Given the description of an element on the screen output the (x, y) to click on. 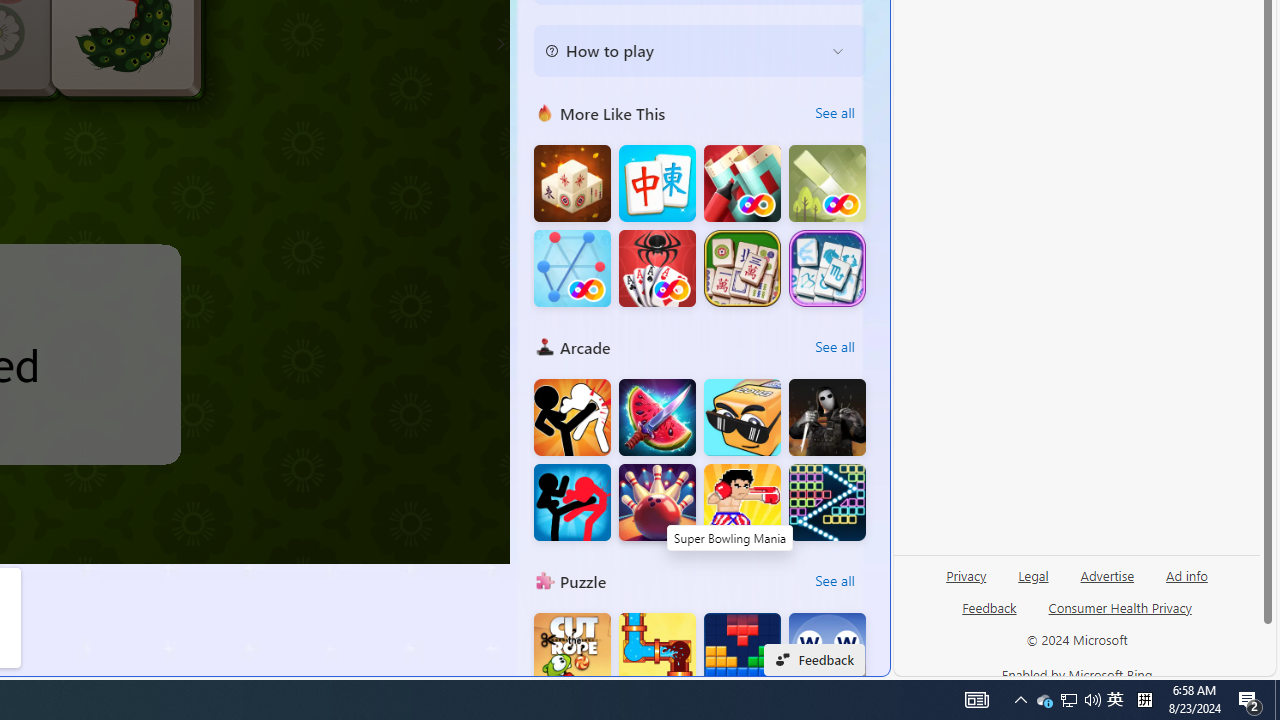
Stickman fighter : Epic battle (571, 502)
BlockBuster: Adventures Puzzle (742, 651)
Super Bowling Mania (657, 502)
Fruit Chopper (657, 417)
See all (834, 580)
Arcade (544, 346)
Nonogram FRVR (742, 183)
How to play (683, 50)
